Given the description of an element on the screen output the (x, y) to click on. 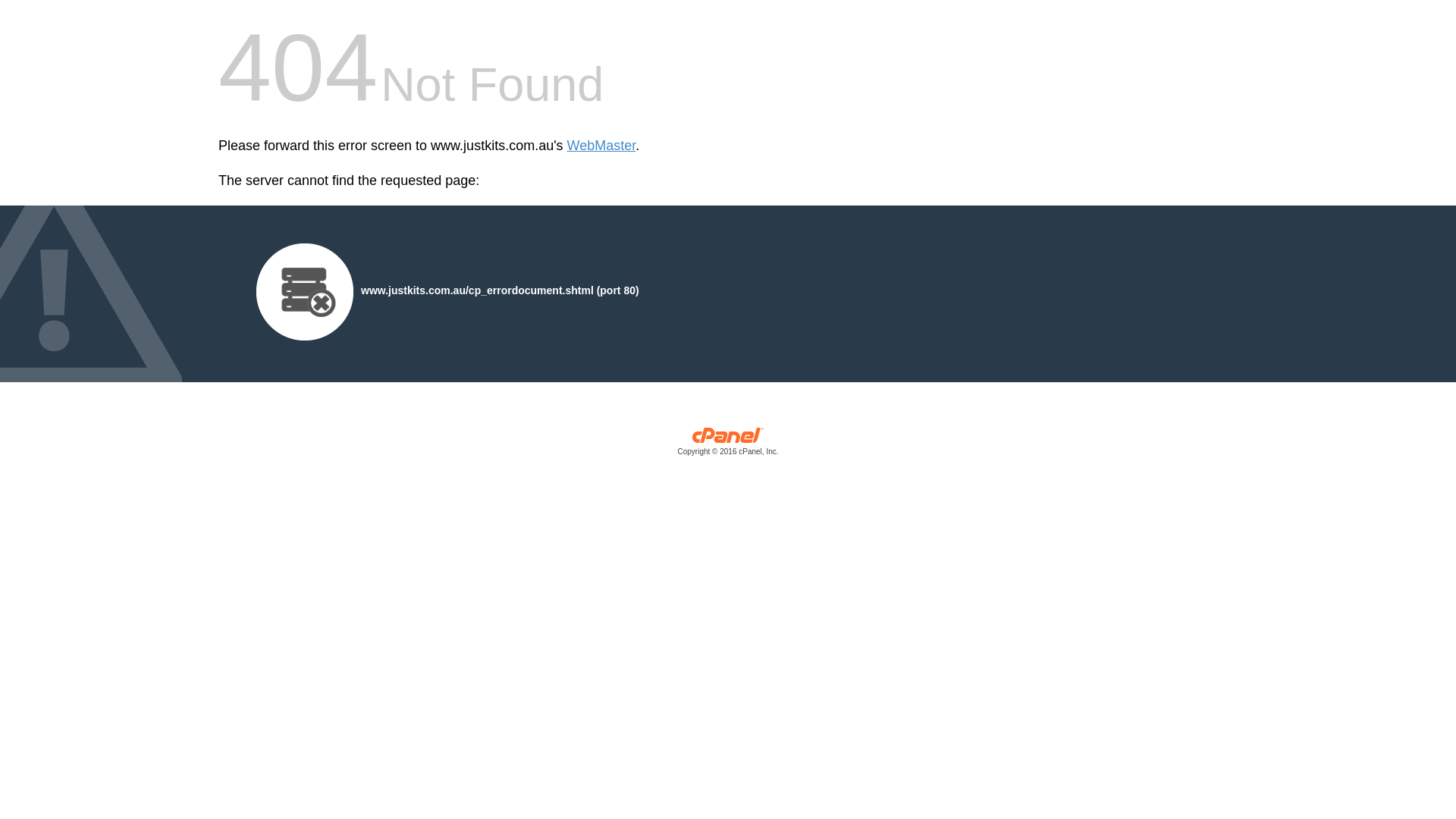
WebMaster Element type: text (601, 145)
